Given the description of an element on the screen output the (x, y) to click on. 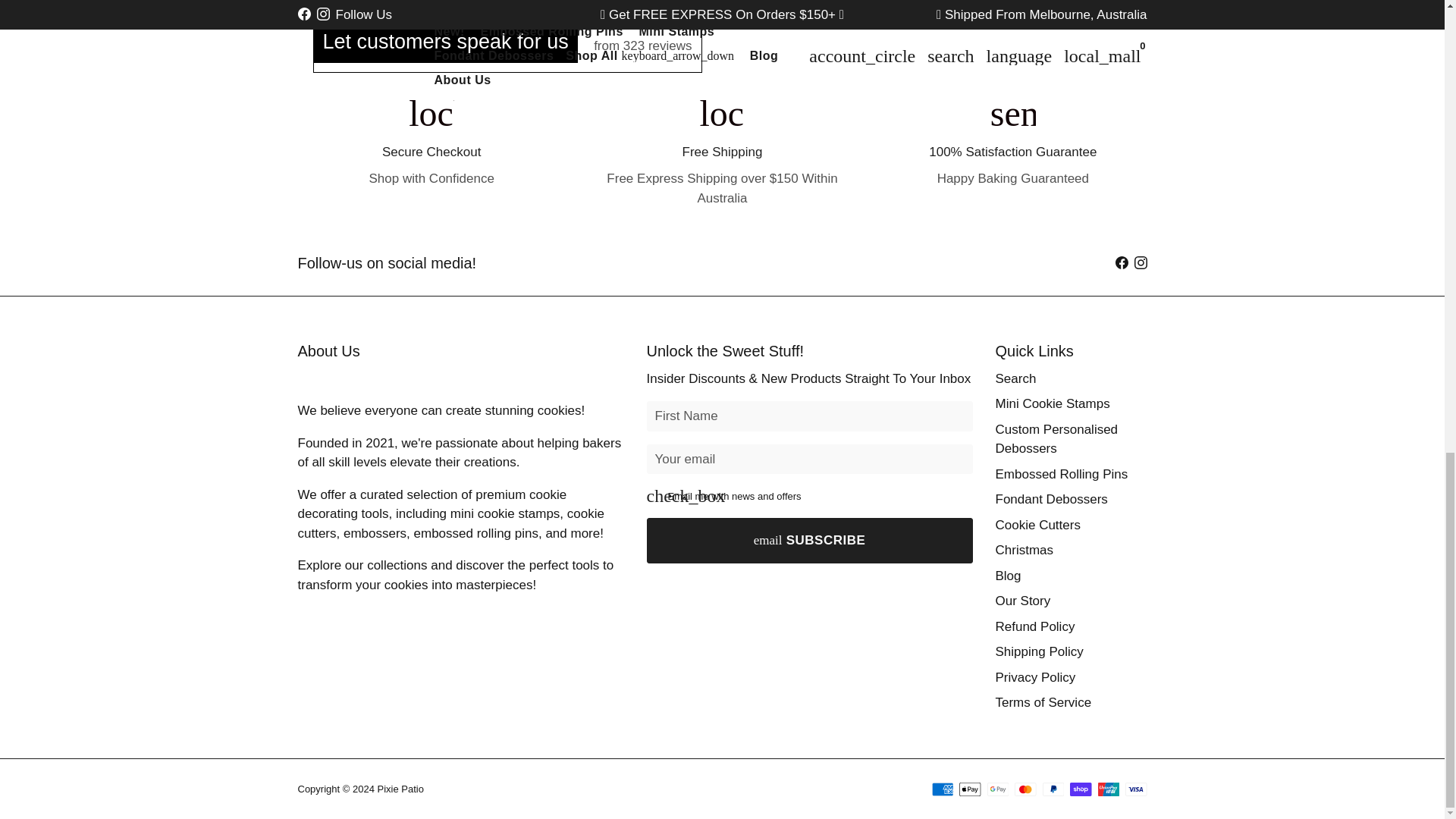
Visa (1136, 789)
American Express (941, 789)
Union Pay (1108, 789)
Google Pay (998, 789)
PayPal (1052, 789)
Mastercard (1025, 789)
Apple Pay (970, 789)
Shop Pay (1081, 789)
